Given the description of an element on the screen output the (x, y) to click on. 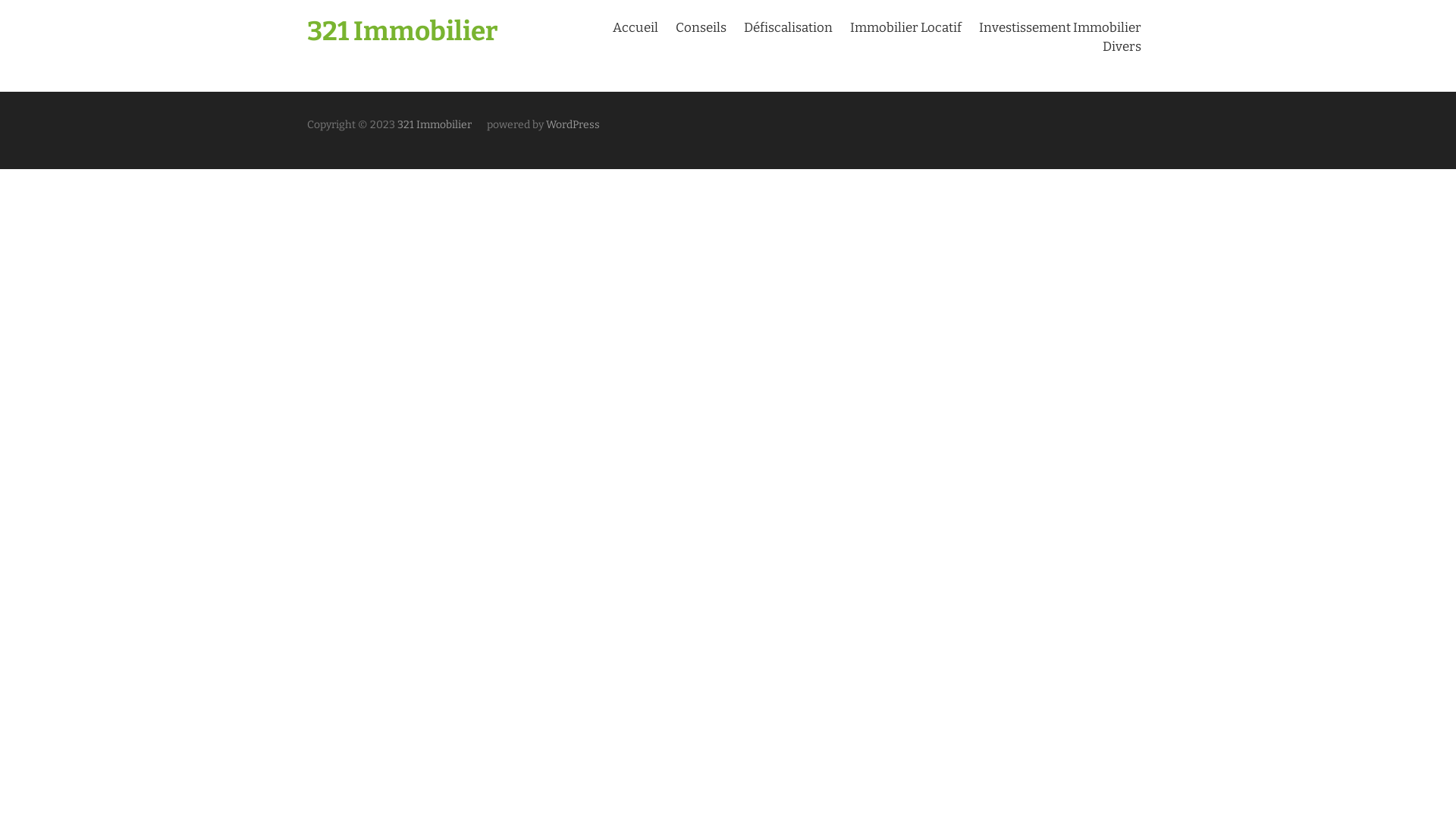
Accueil Element type: text (635, 27)
Investissement Immobilier Element type: text (1059, 27)
Divers Element type: text (1121, 46)
Conseils Element type: text (701, 27)
321 Immobilier Element type: text (402, 31)
WordPress Element type: text (572, 124)
Immobilier Locatif Element type: text (905, 27)
Skip to content Element type: text (0, 0)
321 Immobilier Element type: text (433, 124)
